Given the description of an element on the screen output the (x, y) to click on. 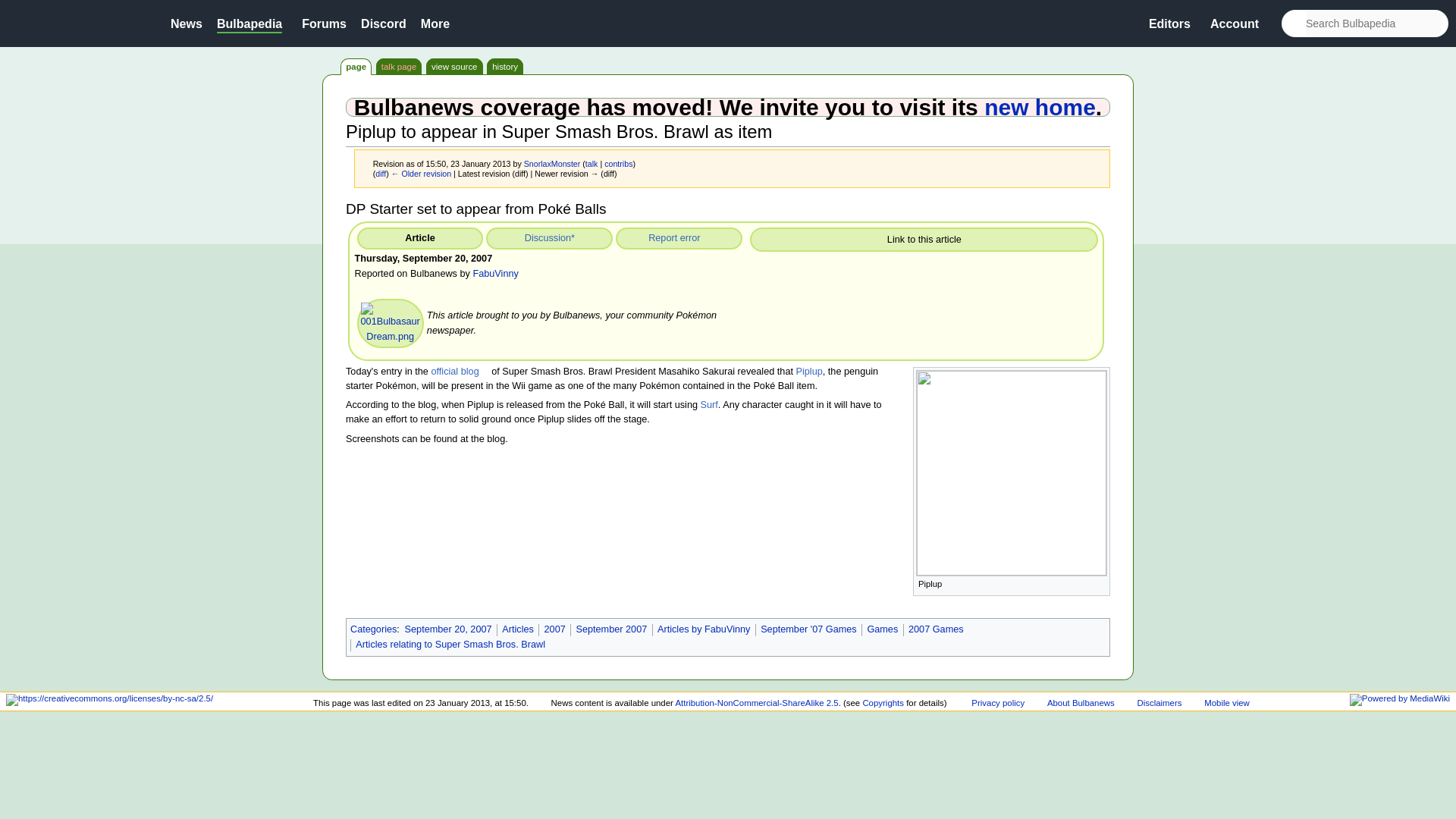
Category:September 2007 (610, 629)
Piplup to appear in Super Smash Bros. Brawl as item (421, 173)
User:Fabu-Vinny (494, 273)
User talk:SnorlaxMonster (591, 163)
Piplup to appear in Super Smash Bros. Brawl as item (380, 173)
Special:Categories (373, 629)
User:SnorlaxMonster (552, 163)
Category:Articles (518, 629)
Bulbapedia (249, 22)
Enlarge (1099, 582)
Category:2007 (555, 629)
Category:September 20, 2007 (448, 629)
Category:Articles by FabuVinny (703, 629)
